Given the description of an element on the screen output the (x, y) to click on. 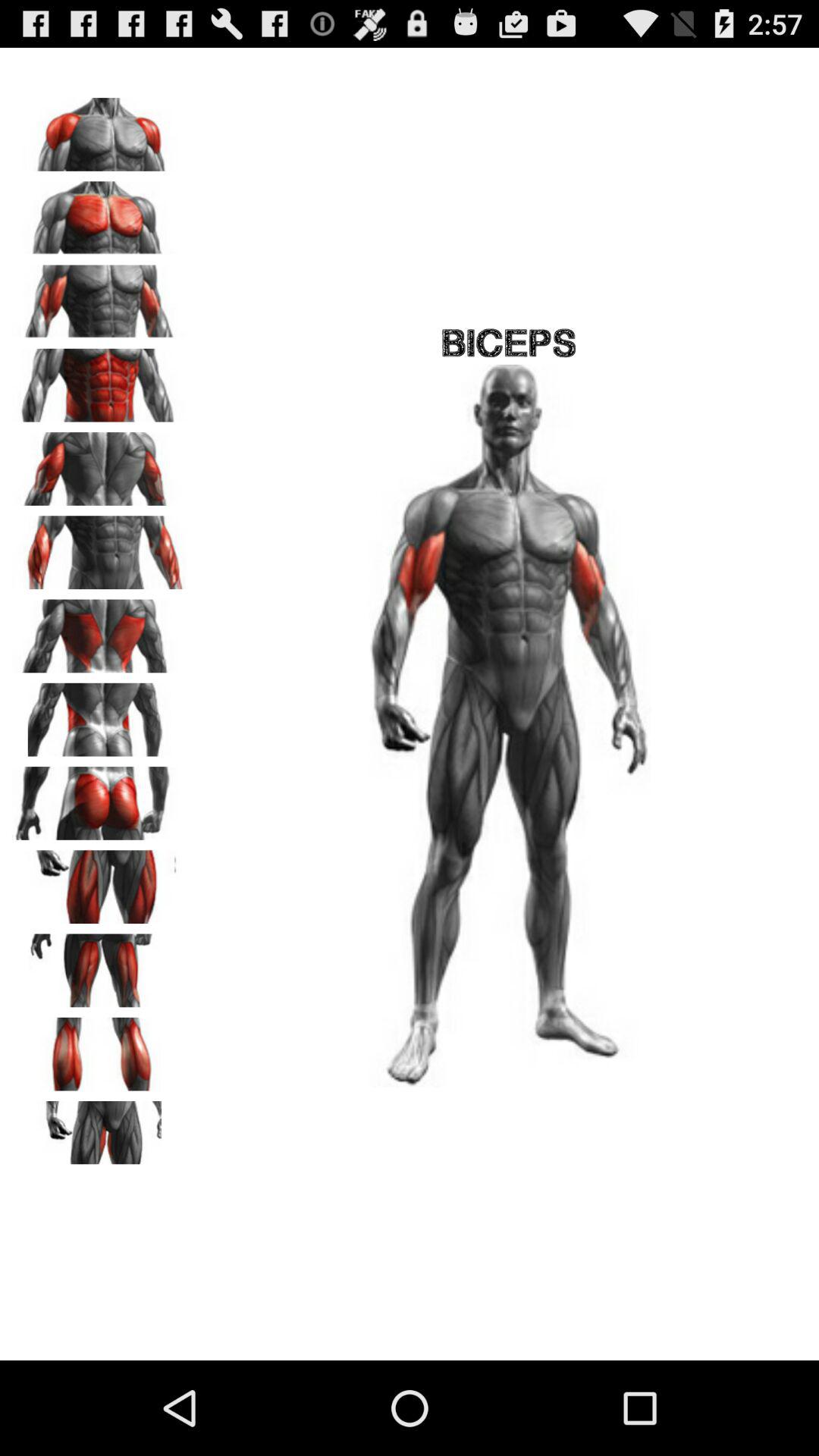
body backside (99, 714)
